Given the description of an element on the screen output the (x, y) to click on. 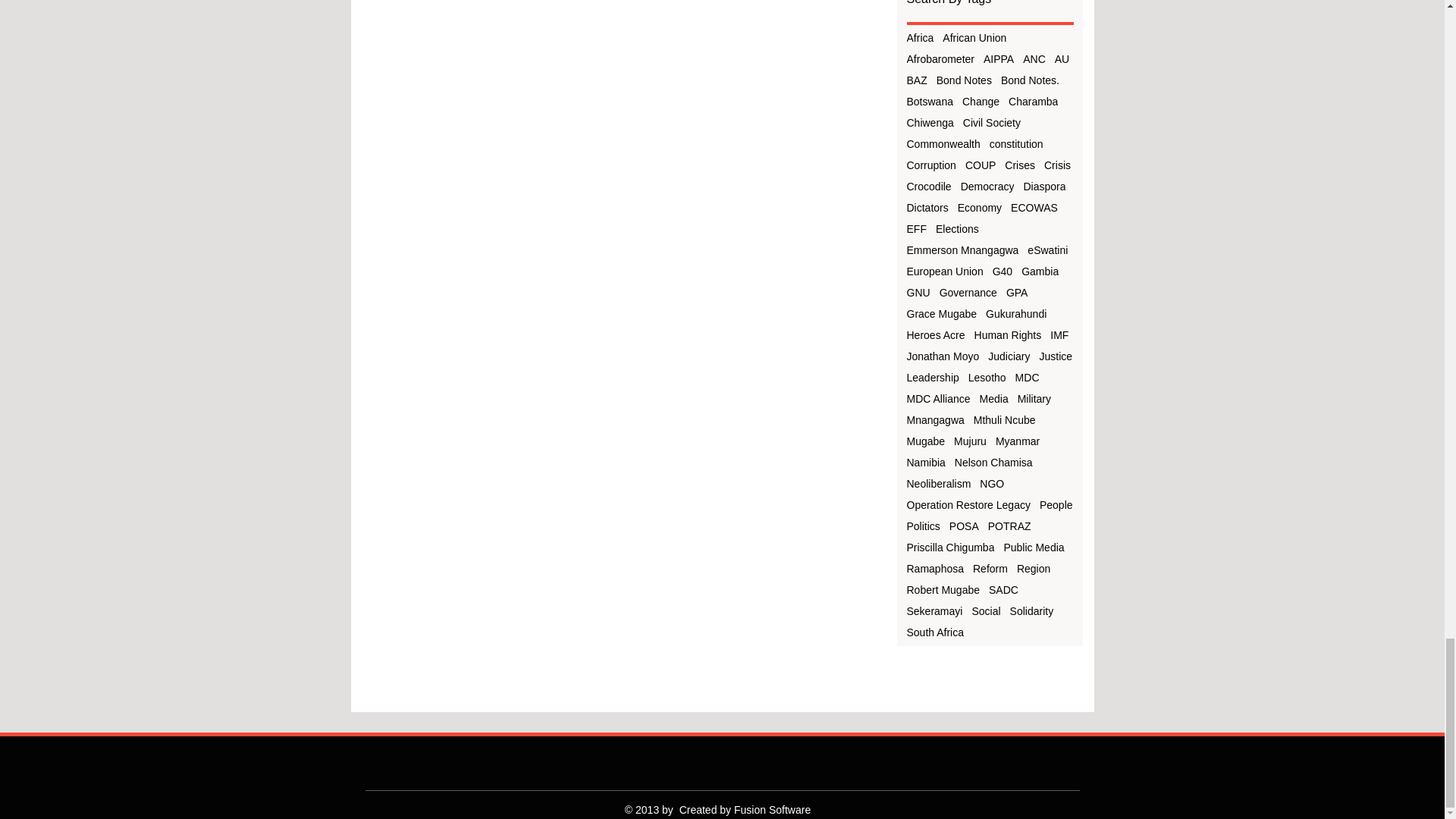
Corruption (931, 164)
Bond Notes. (1030, 79)
Charamba (1033, 101)
constitution (1016, 143)
Diaspora (1044, 185)
Botswana (930, 101)
Bond Notes (963, 79)
Chiwenga (930, 121)
Democracy (987, 185)
BAZ (917, 79)
